Given the description of an element on the screen output the (x, y) to click on. 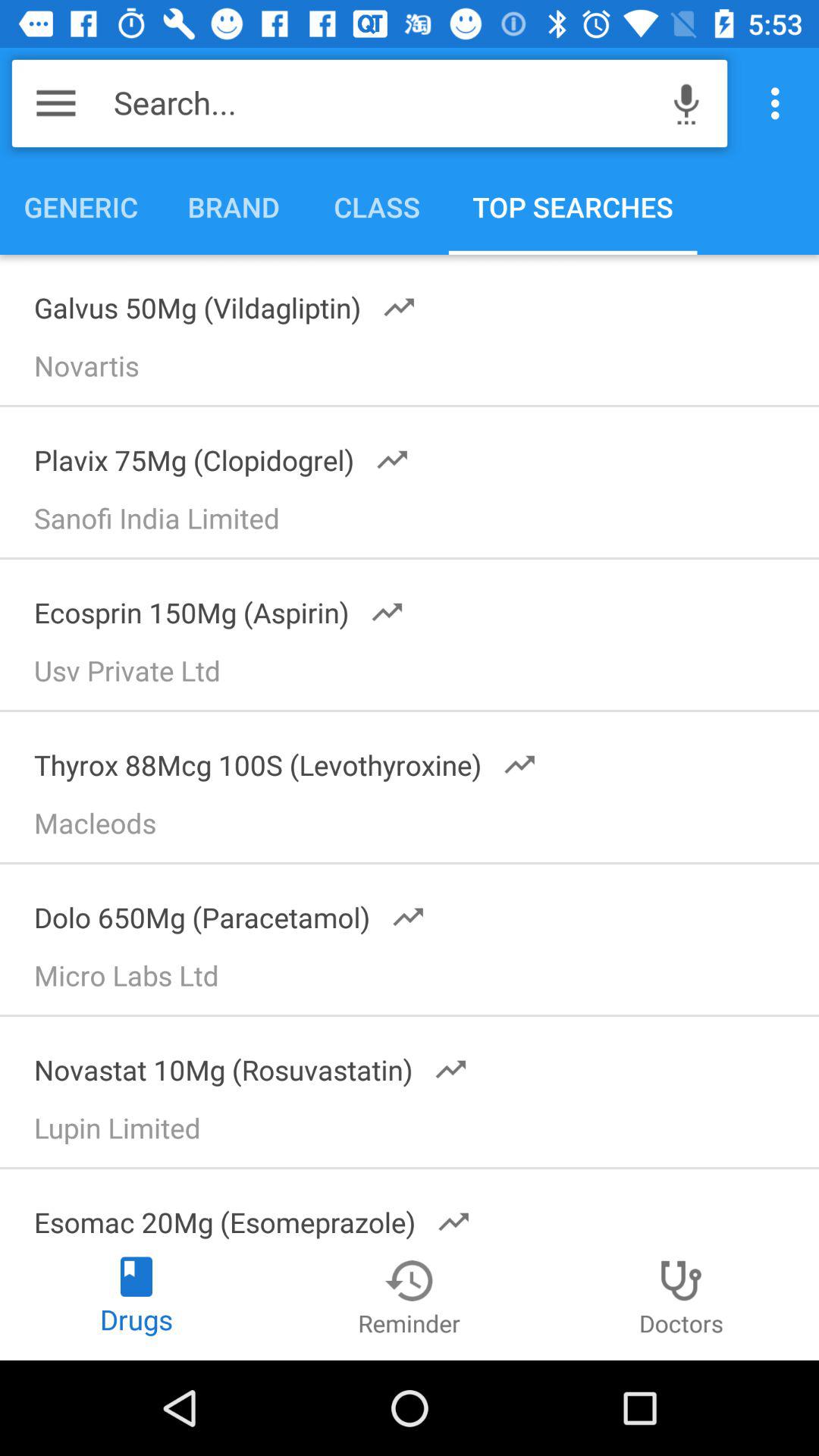
turn off the item below the novartis icon (212, 455)
